Given the description of an element on the screen output the (x, y) to click on. 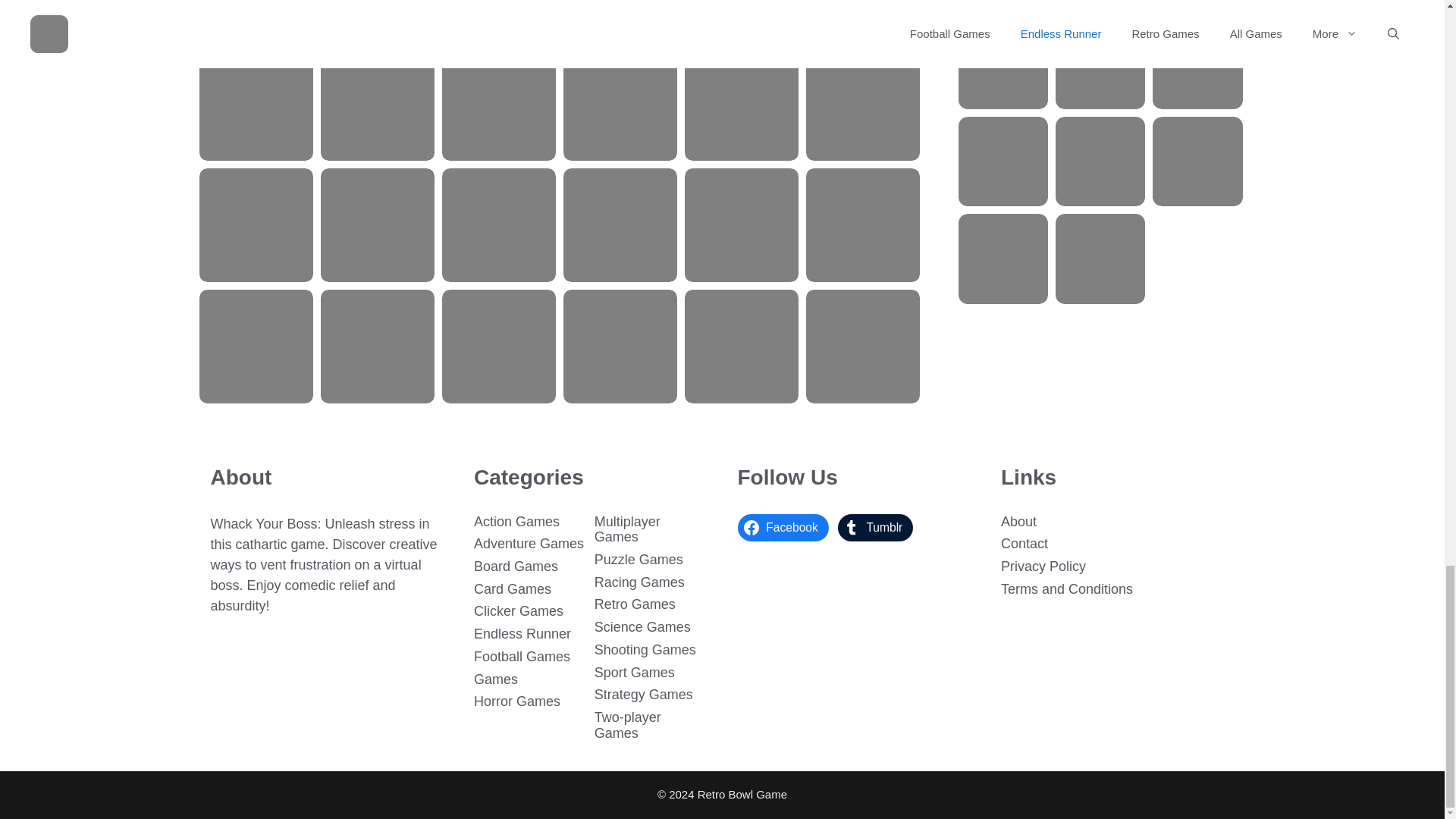
OvO 2 (740, 19)
Age of War (376, 19)
Run Fun! (499, 19)
3 Slices (863, 19)
American Touchdown Game (620, 19)
Flappy Bird (256, 19)
Classic Hearts (256, 103)
